Given the description of an element on the screen output the (x, y) to click on. 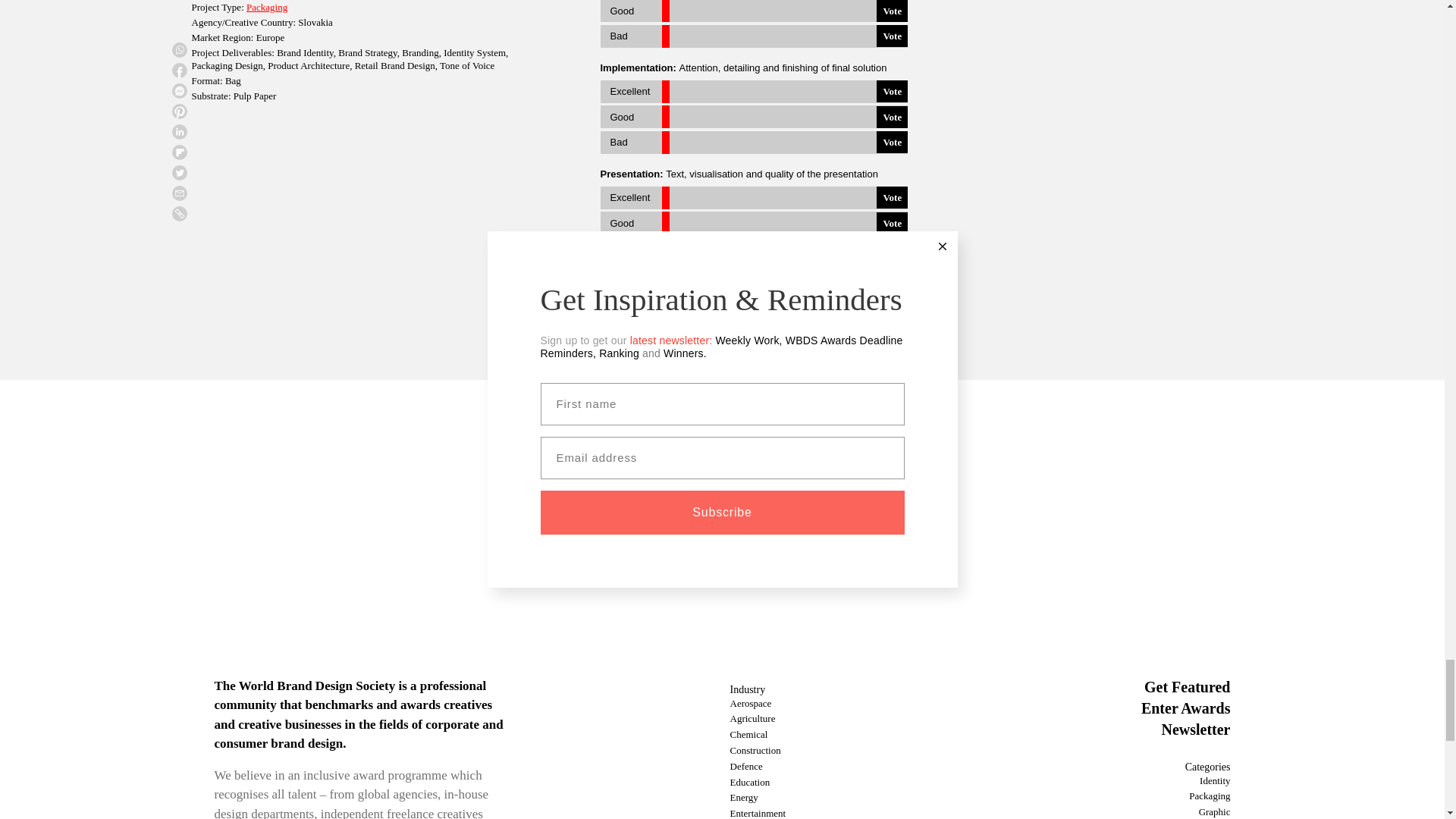
Packaging (266, 7)
